Given the description of an element on the screen output the (x, y) to click on. 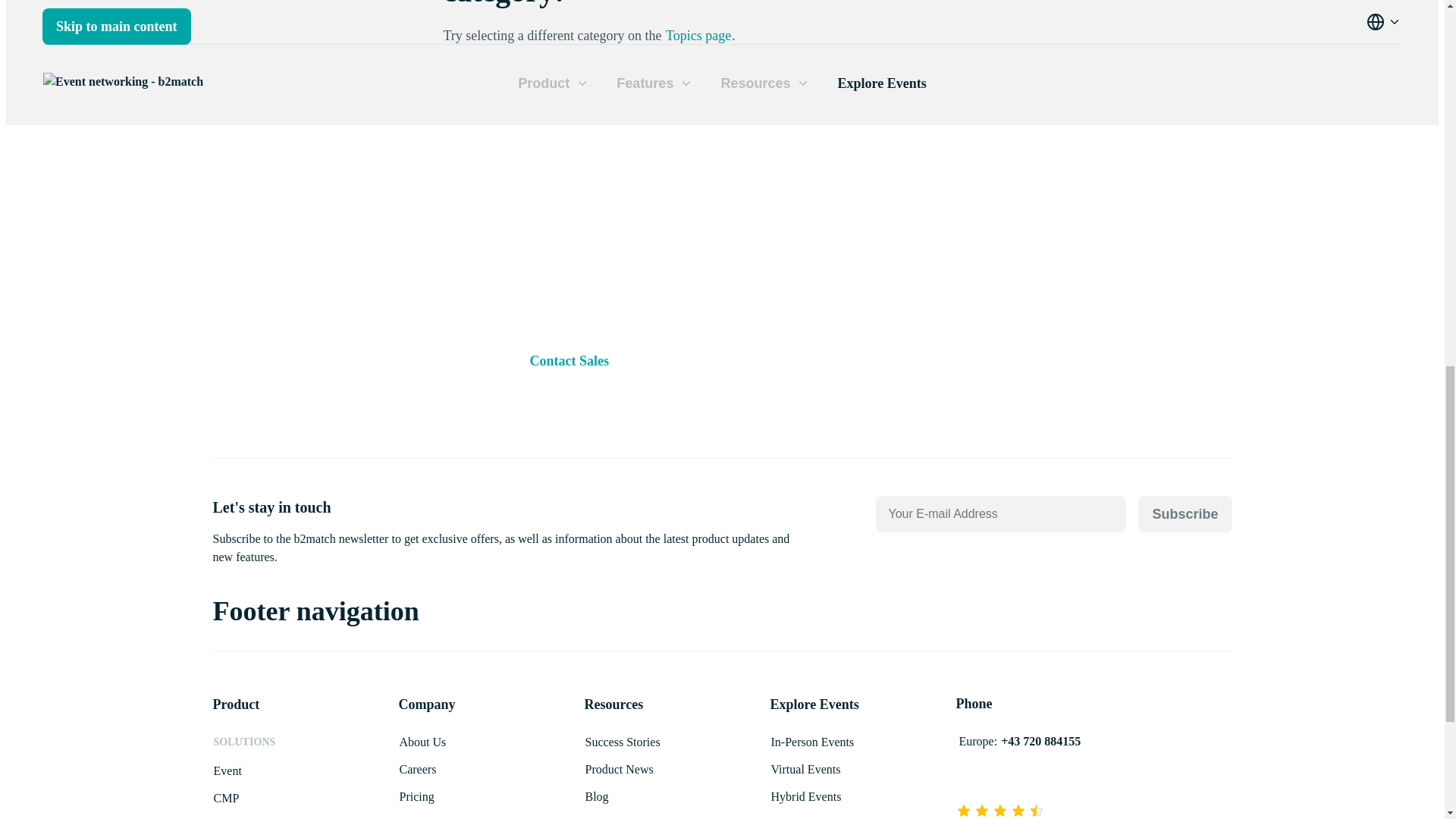
Hybrid Events (806, 796)
Subscribe (1184, 514)
Contact Sales (569, 361)
Careers (418, 769)
Topics page (698, 35)
In-Person Events (813, 741)
About Us (422, 741)
Virtual Events (805, 769)
Event (226, 770)
Contact Us (426, 817)
Blog (595, 796)
CMP (226, 798)
Pricing (416, 796)
Success Stories (622, 741)
Product News (618, 769)
